Given the description of an element on the screen output the (x, y) to click on. 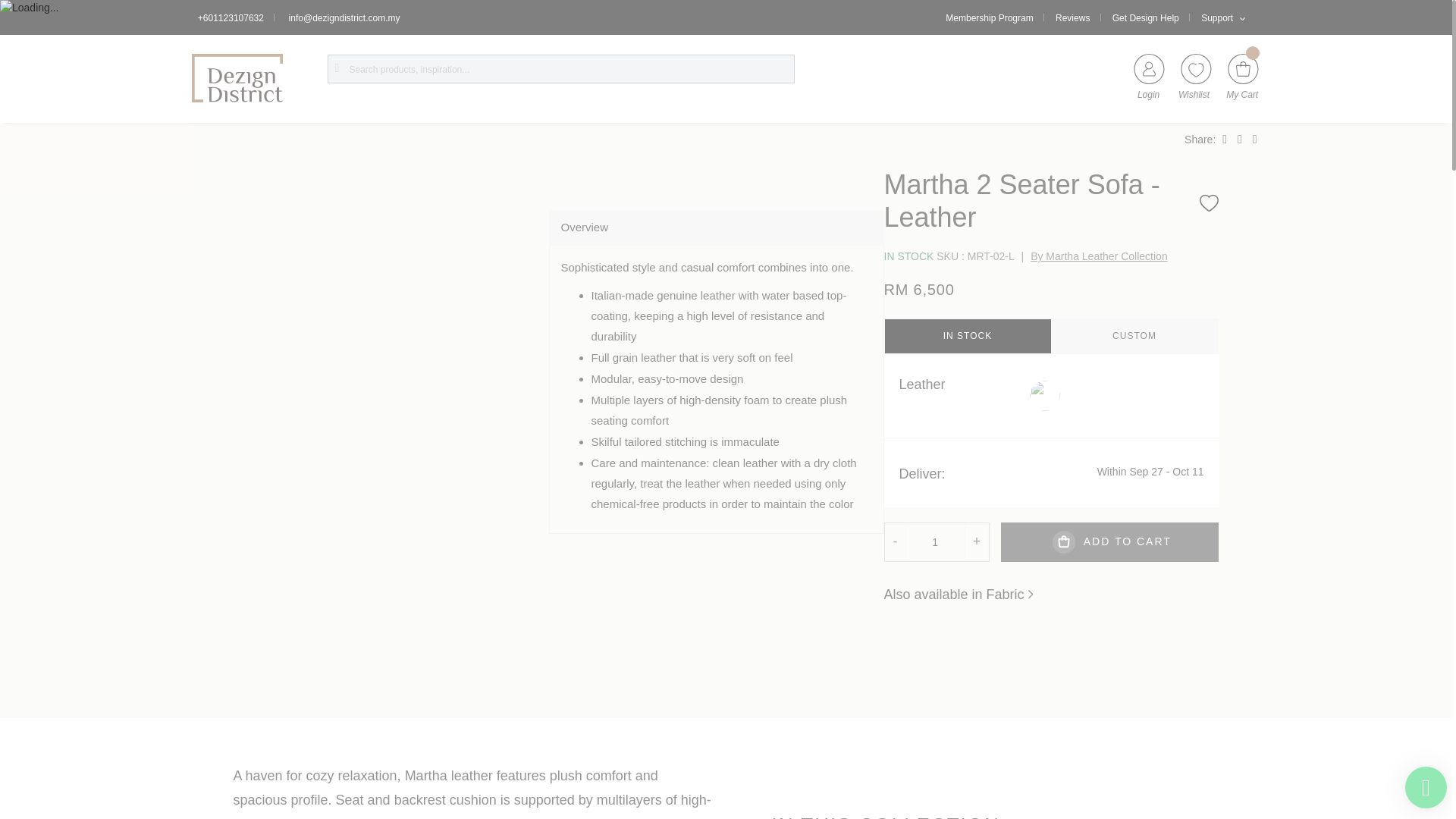
logo (236, 78)
Get Design Help (1139, 18)
1 (935, 542)
Availability (910, 256)
Qty (935, 542)
Reviews (1066, 18)
Brown (1044, 395)
Membership Program (988, 18)
Add to Cart (1109, 541)
Support (1211, 18)
